Given the description of an element on the screen output the (x, y) to click on. 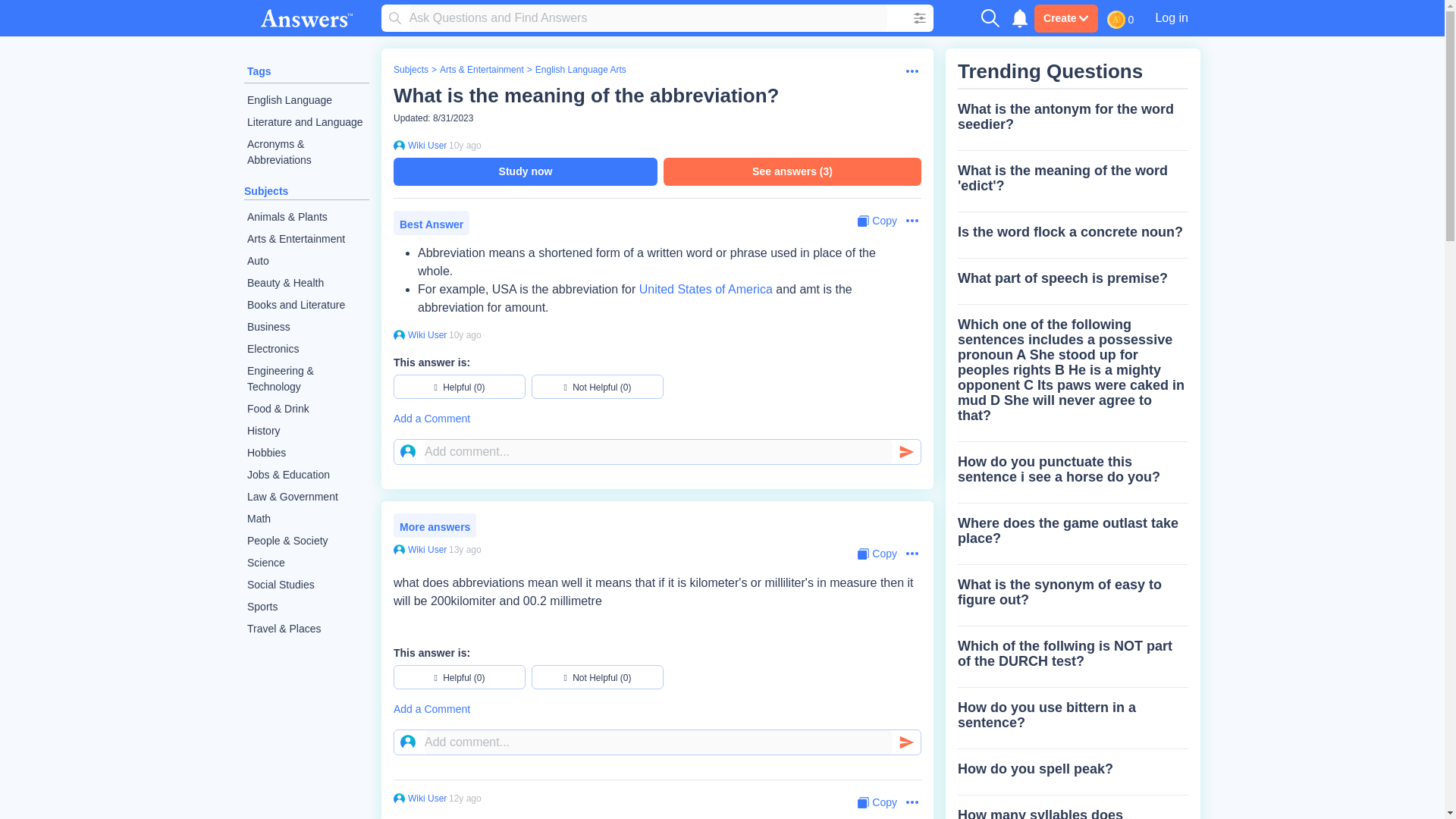
United States of America (706, 288)
Add a Comment (657, 418)
Books and Literature (306, 305)
English Language Arts (580, 69)
Tags (258, 70)
Science (306, 563)
2011-03-26 11:48:51 (464, 549)
2014-04-20 14:14:33 (464, 145)
Math (306, 518)
2012-04-09 17:31:45 (464, 798)
Study now (525, 171)
Electronics (306, 349)
Social Studies (306, 585)
Literature and Language (306, 122)
Log in (1170, 17)
